Given the description of an element on the screen output the (x, y) to click on. 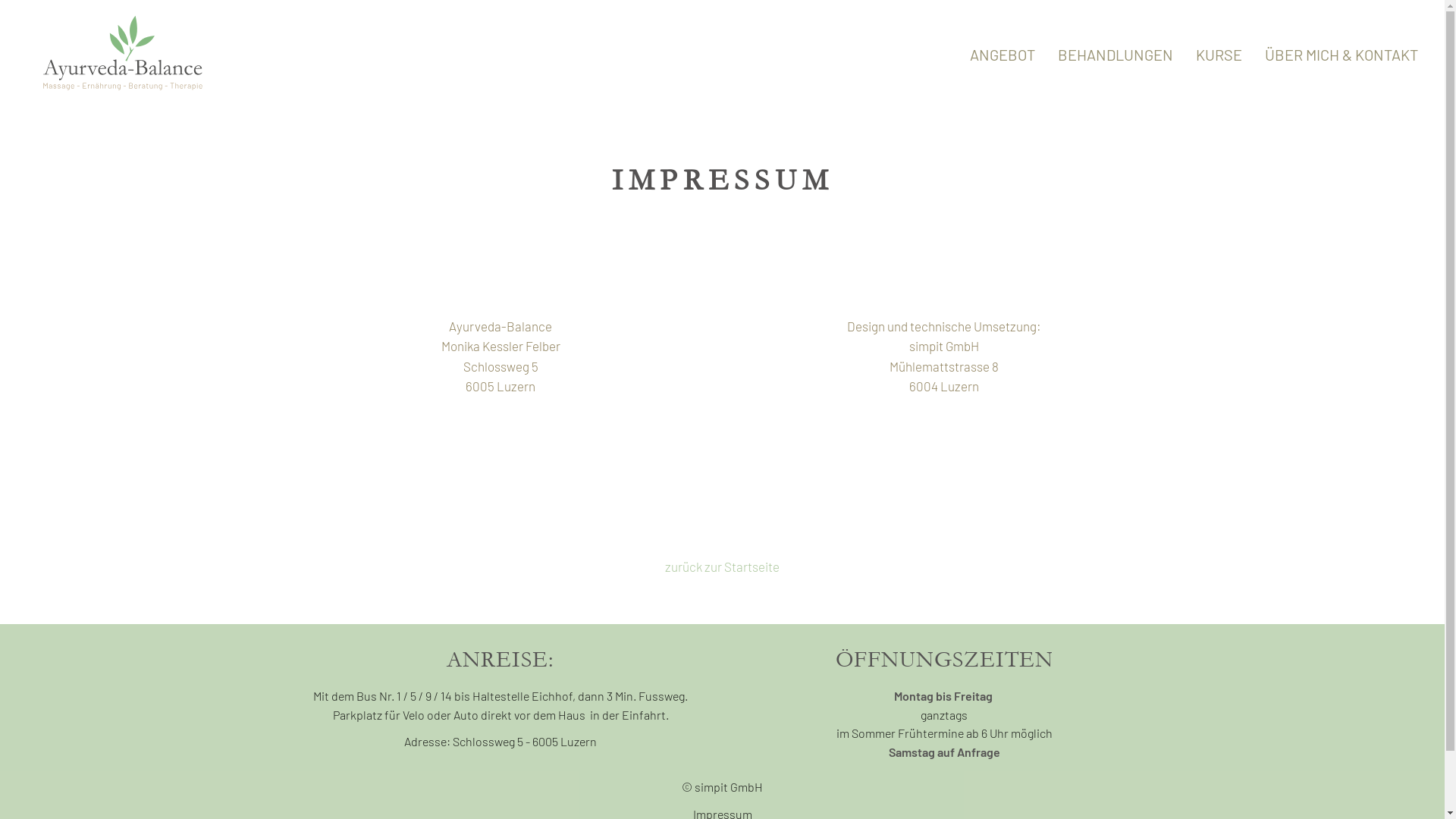
ANGEBOT Element type: text (1002, 55)
KURSE Element type: text (1218, 55)
BEHANDLUNGEN Element type: text (1115, 55)
